Given the description of an element on the screen output the (x, y) to click on. 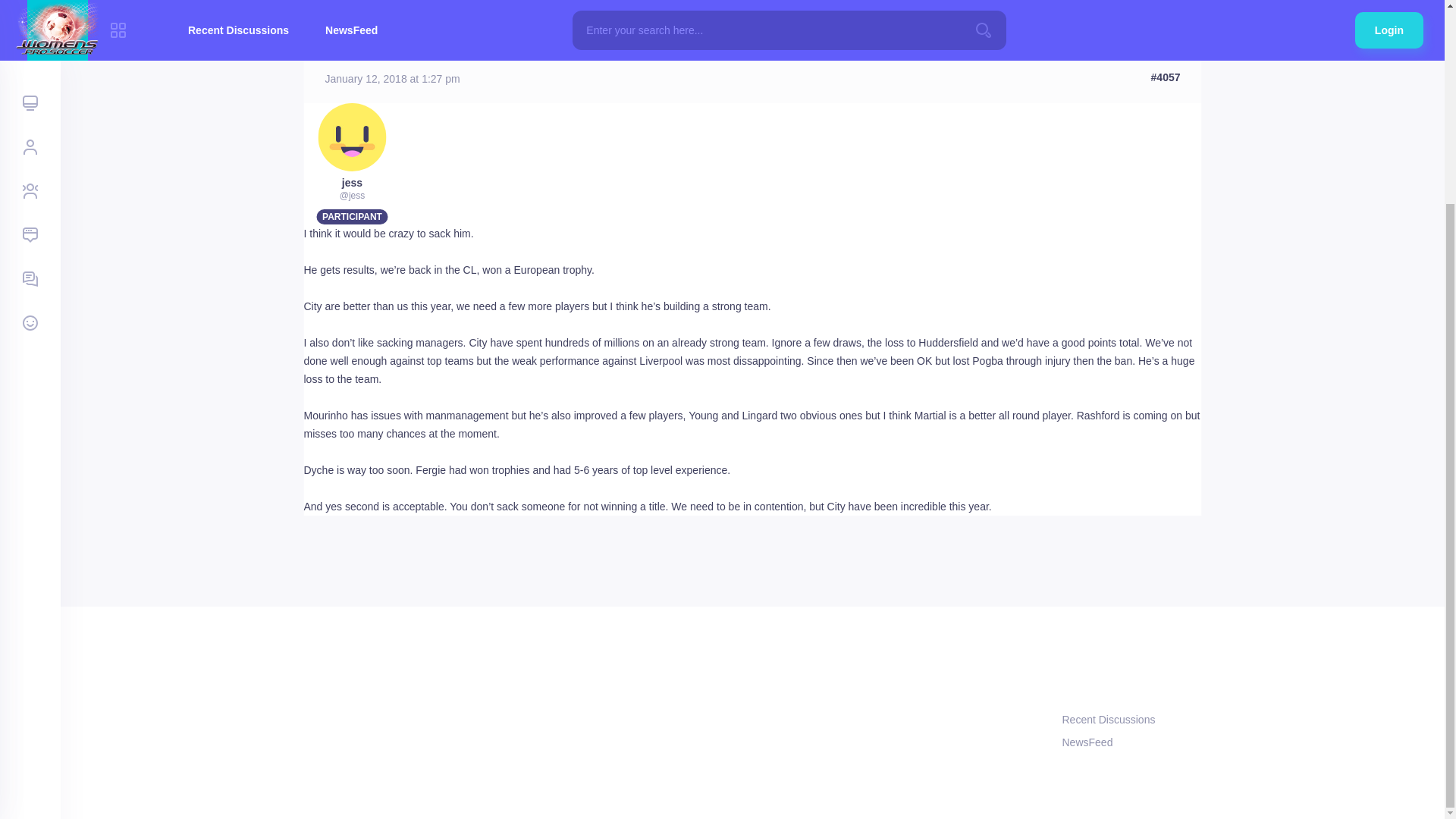
Forums (319, 40)
Recent Discussions (1131, 719)
Mourinho (453, 40)
NewsFeed (1131, 742)
jess (352, 182)
General Banter (384, 40)
